Given the description of an element on the screen output the (x, y) to click on. 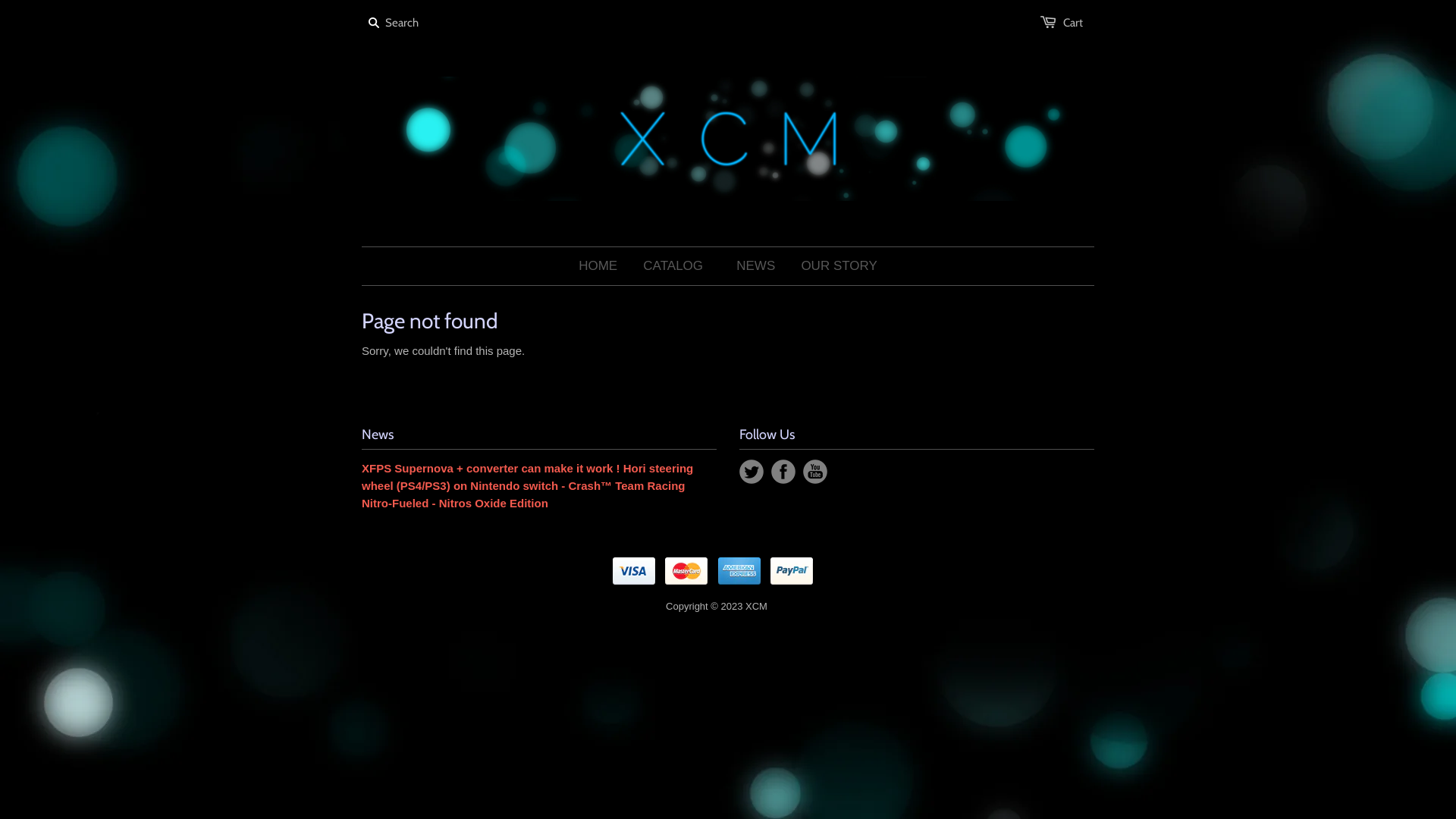
HOME Element type: text (597, 266)
YouTube Element type: text (815, 471)
Facebook Element type: text (783, 471)
OUR STORY Element type: text (838, 266)
Cart Element type: text (1072, 22)
NEWS Element type: text (755, 266)
Twitter Element type: text (751, 471)
CATALOG Element type: text (672, 266)
